Given the description of an element on the screen output the (x, y) to click on. 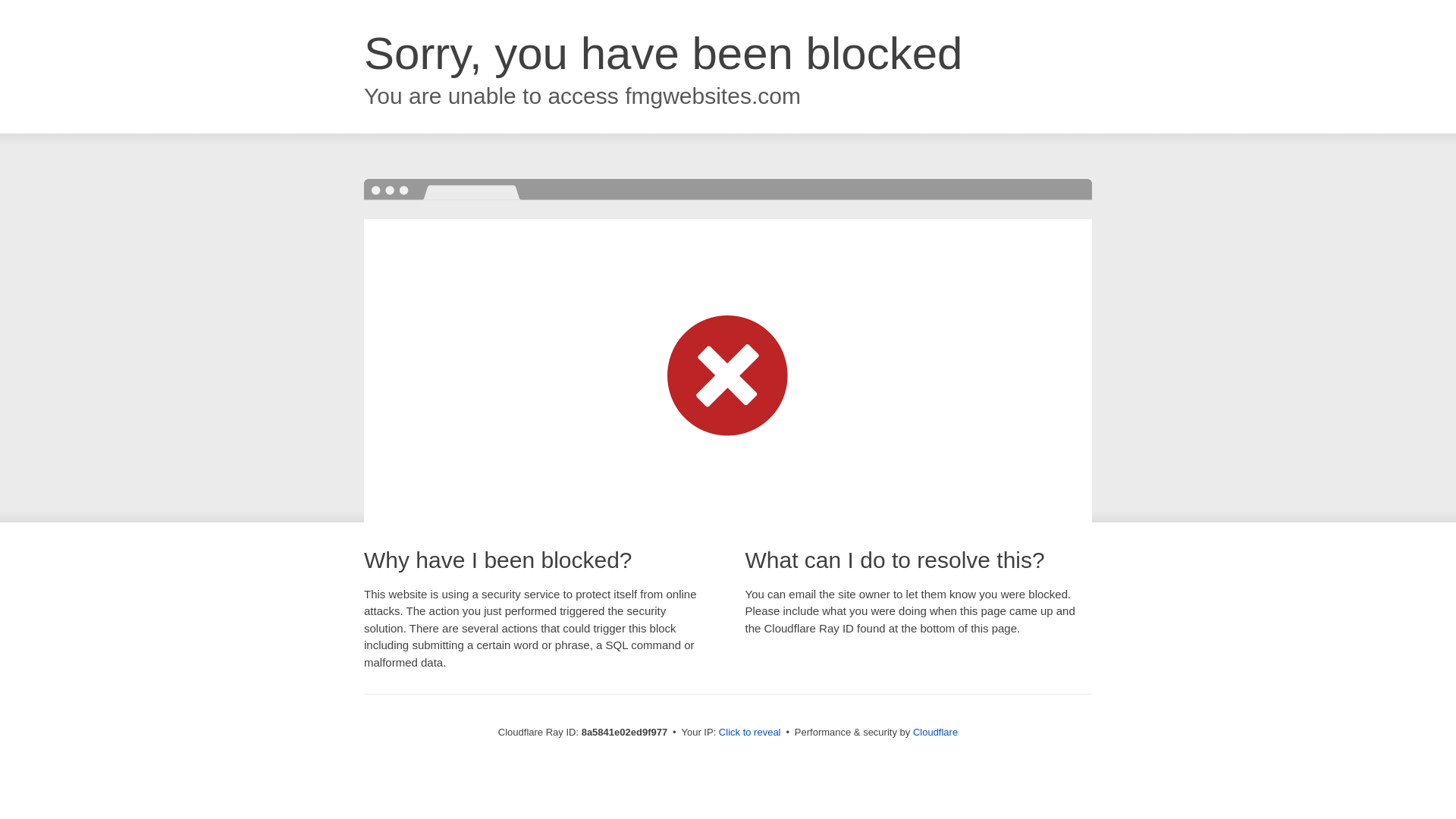
Cloudflare (935, 731)
Click to reveal (749, 732)
